Given the description of an element on the screen output the (x, y) to click on. 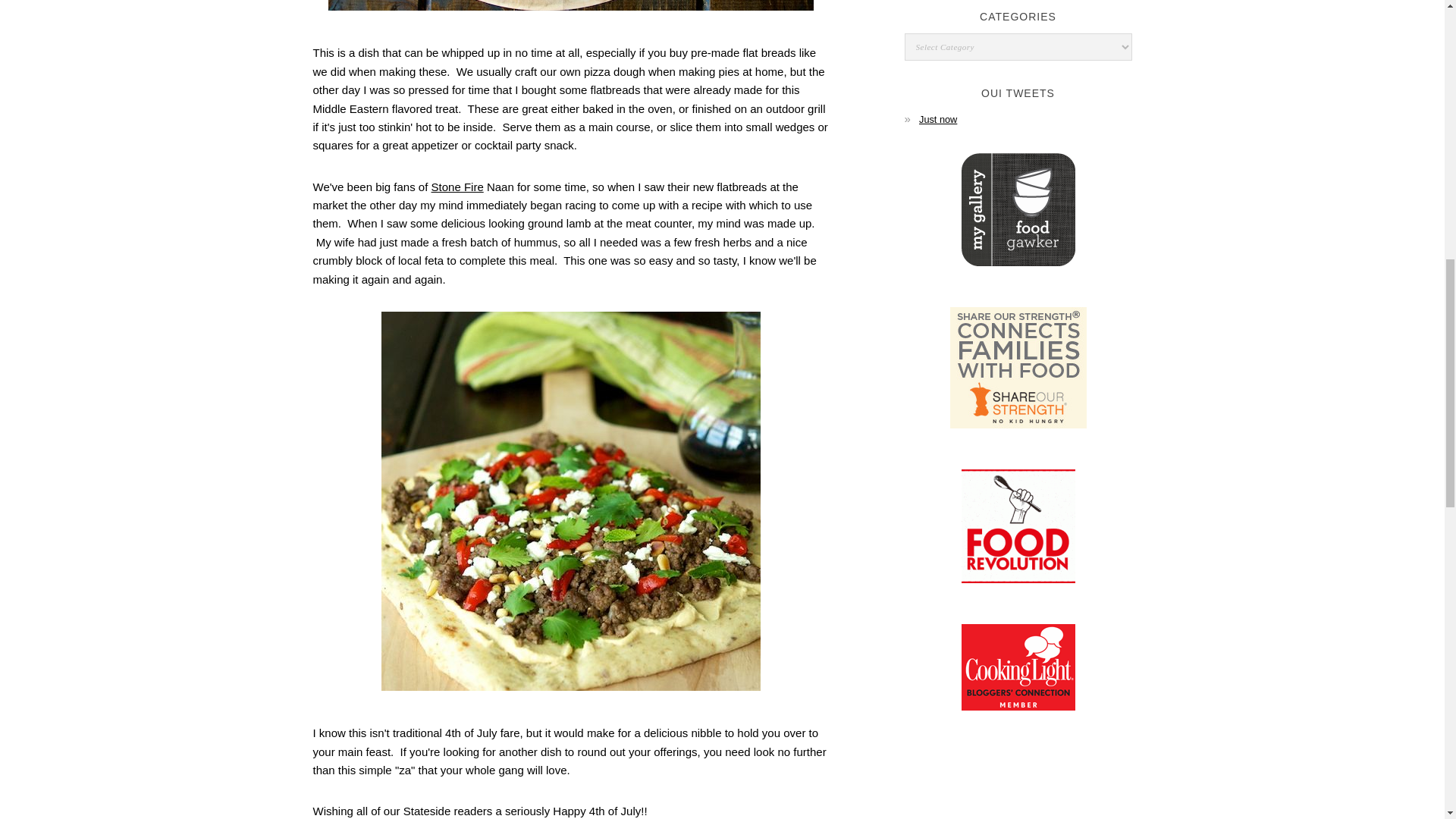
Stone Fire (456, 186)
Overhead - Blog 855 (569, 5)
Just now (937, 118)
